Given the description of an element on the screen output the (x, y) to click on. 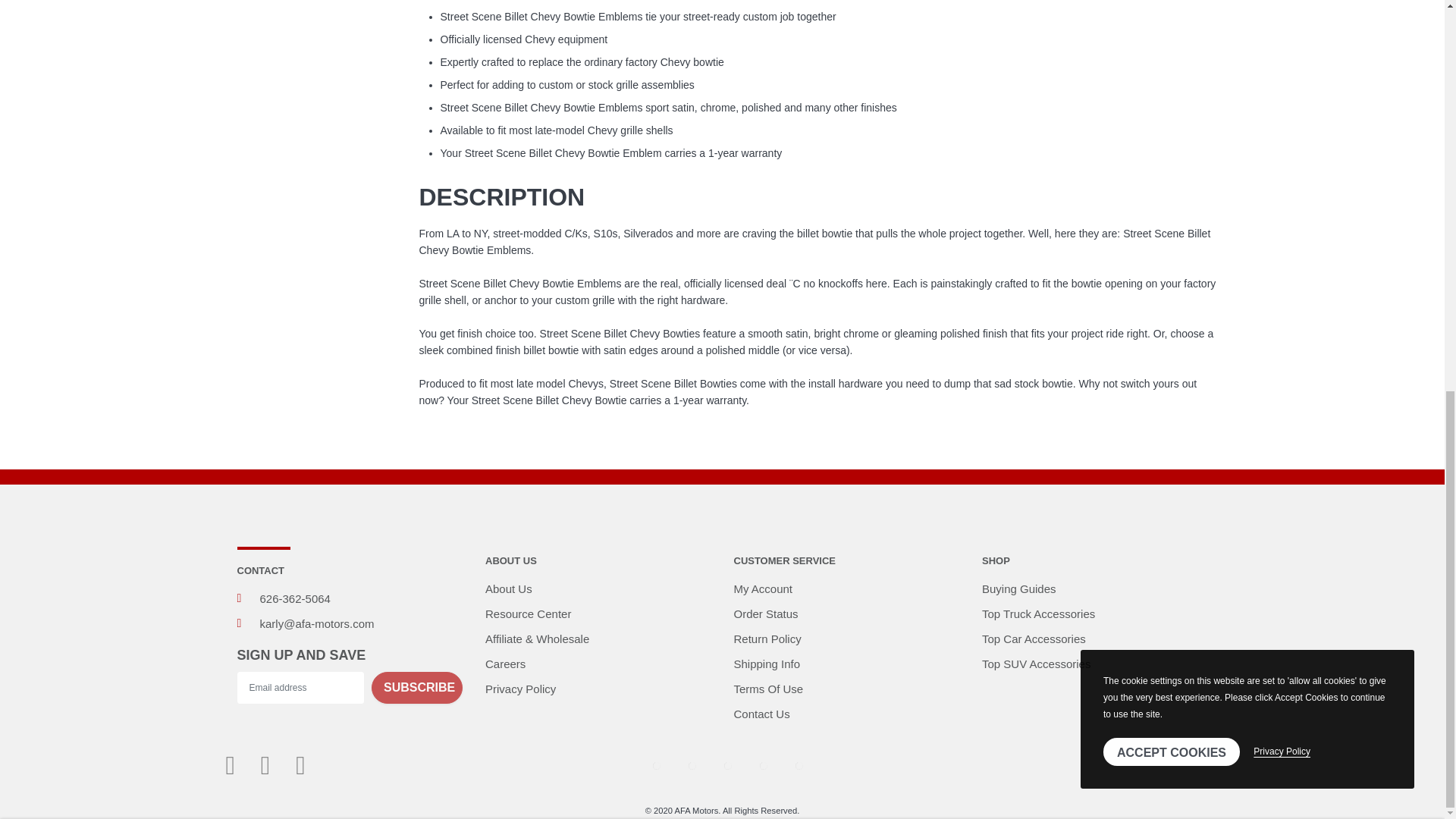
Add to cart (1143, 110)
1 (767, 110)
Subscribe (417, 687)
